Given the description of an element on the screen output the (x, y) to click on. 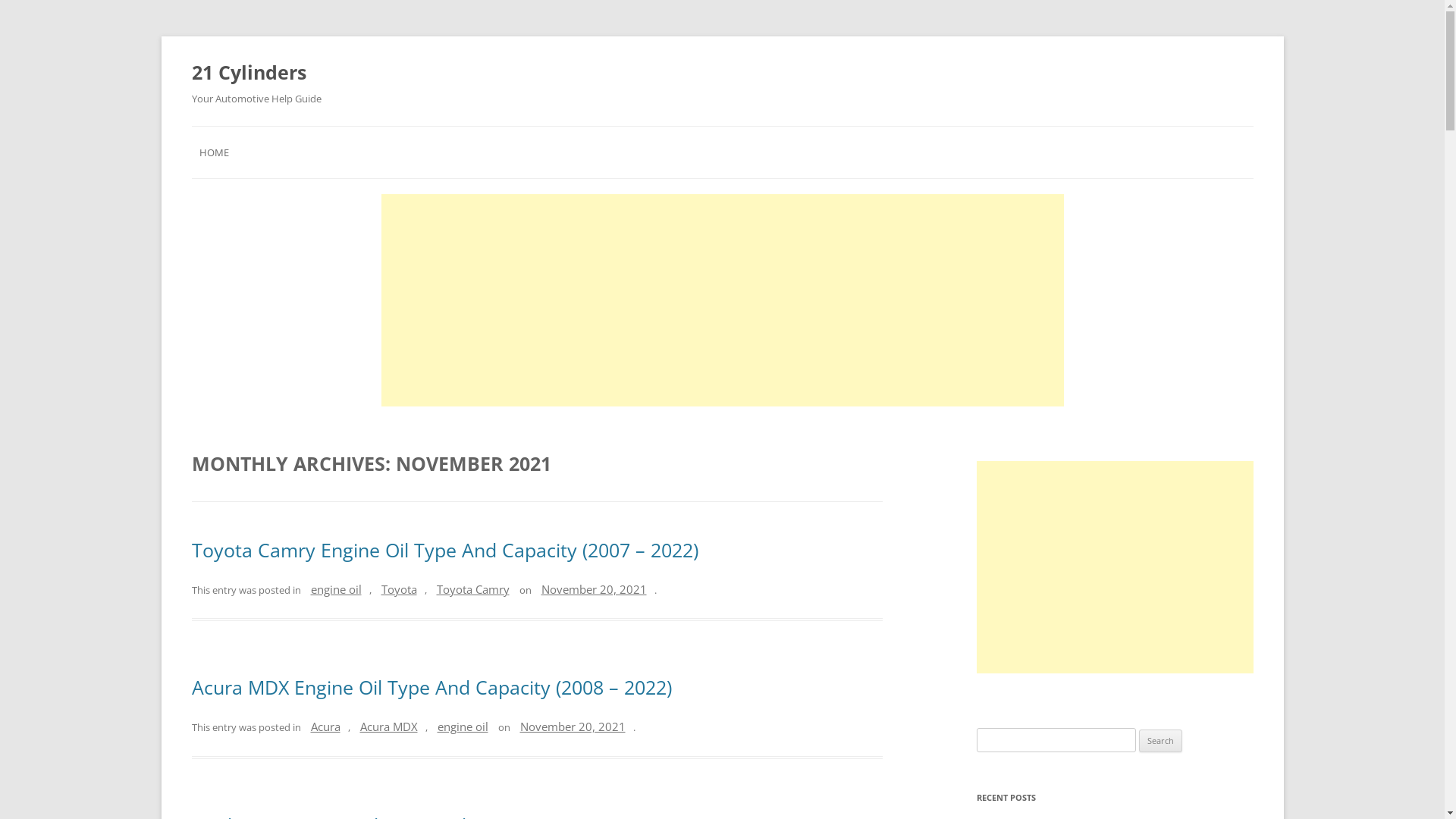
engine oil Element type: text (335, 588)
November 20, 2021 Element type: text (593, 588)
engine oil Element type: text (461, 726)
HOME Element type: text (213, 152)
Search Element type: text (1160, 740)
Toyota Camry Element type: text (472, 588)
Acura Element type: text (325, 726)
Advertisement Element type: hover (1114, 567)
Skip to content Element type: text (759, 130)
November 20, 2021 Element type: text (572, 726)
Toyota Element type: text (398, 588)
21 Cylinders Element type: text (248, 71)
Acura MDX Element type: text (388, 726)
Advertisement Element type: hover (721, 300)
